Given the description of an element on the screen output the (x, y) to click on. 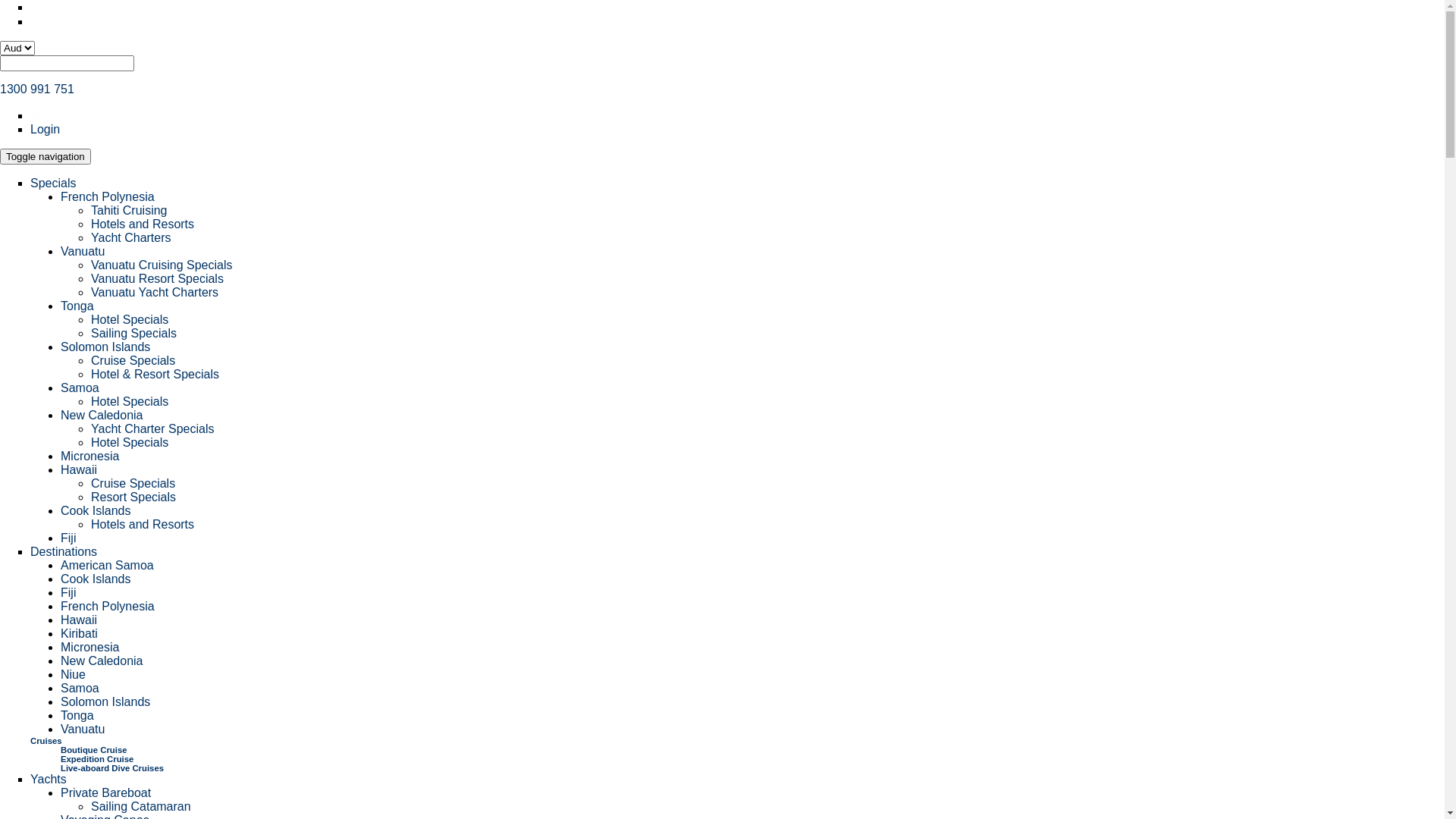
Private Bareboat Element type: text (105, 792)
French Polynesia Element type: text (107, 605)
1300 991 751 Element type: text (37, 88)
Cruises Element type: text (46, 740)
Samoa Element type: text (79, 687)
Vanuatu Resort Specials Element type: text (157, 278)
Destinations Element type: text (63, 551)
Vanuatu Yacht Charters Element type: text (154, 291)
Hawaii Element type: text (78, 469)
Tahiti Cruising Element type: text (128, 209)
Tonga Element type: text (77, 305)
Sailing Catamaran Element type: text (141, 806)
Hotels and Resorts Element type: text (142, 223)
Fiji Element type: text (67, 537)
Yacht Charters Element type: text (131, 237)
Vanuatu Element type: text (82, 728)
Live-aboard Dive Cruises Element type: text (111, 767)
Solomon Islands Element type: text (105, 701)
Hotel & Resort Specials Element type: text (155, 373)
Kiribati Element type: text (78, 633)
Hawaii Element type: text (78, 619)
Solomon Islands Element type: text (105, 346)
Yachts Element type: text (48, 778)
American Samoa Element type: text (106, 564)
Vanuatu Cruising Specials Element type: text (161, 264)
Resort Specials Element type: text (133, 496)
New Caledonia Element type: text (101, 414)
Micronesia Element type: text (89, 455)
Boutique Cruise Element type: text (93, 749)
Vanuatu Element type: text (82, 250)
Tonga Element type: text (77, 715)
Yacht Charter Specials Element type: text (152, 428)
Login Element type: text (44, 128)
Cook Islands Element type: text (95, 510)
French Polynesia Element type: text (107, 196)
Fiji Element type: text (67, 592)
Hotel Specials Element type: text (129, 442)
Toggle navigation Element type: text (45, 156)
New Caledonia Element type: text (101, 660)
Micronesia Element type: text (89, 646)
Cruise Specials Element type: text (133, 482)
Cruise Specials Element type: text (133, 360)
Niue Element type: text (72, 674)
Sailing Specials Element type: text (133, 332)
Expedition Cruise Element type: text (96, 758)
Hotel Specials Element type: text (129, 319)
Cook Islands Element type: text (95, 578)
Specials Element type: text (52, 182)
Samoa Element type: text (79, 387)
Hotels and Resorts Element type: text (142, 523)
Hotel Specials Element type: text (129, 401)
